Given the description of an element on the screen output the (x, y) to click on. 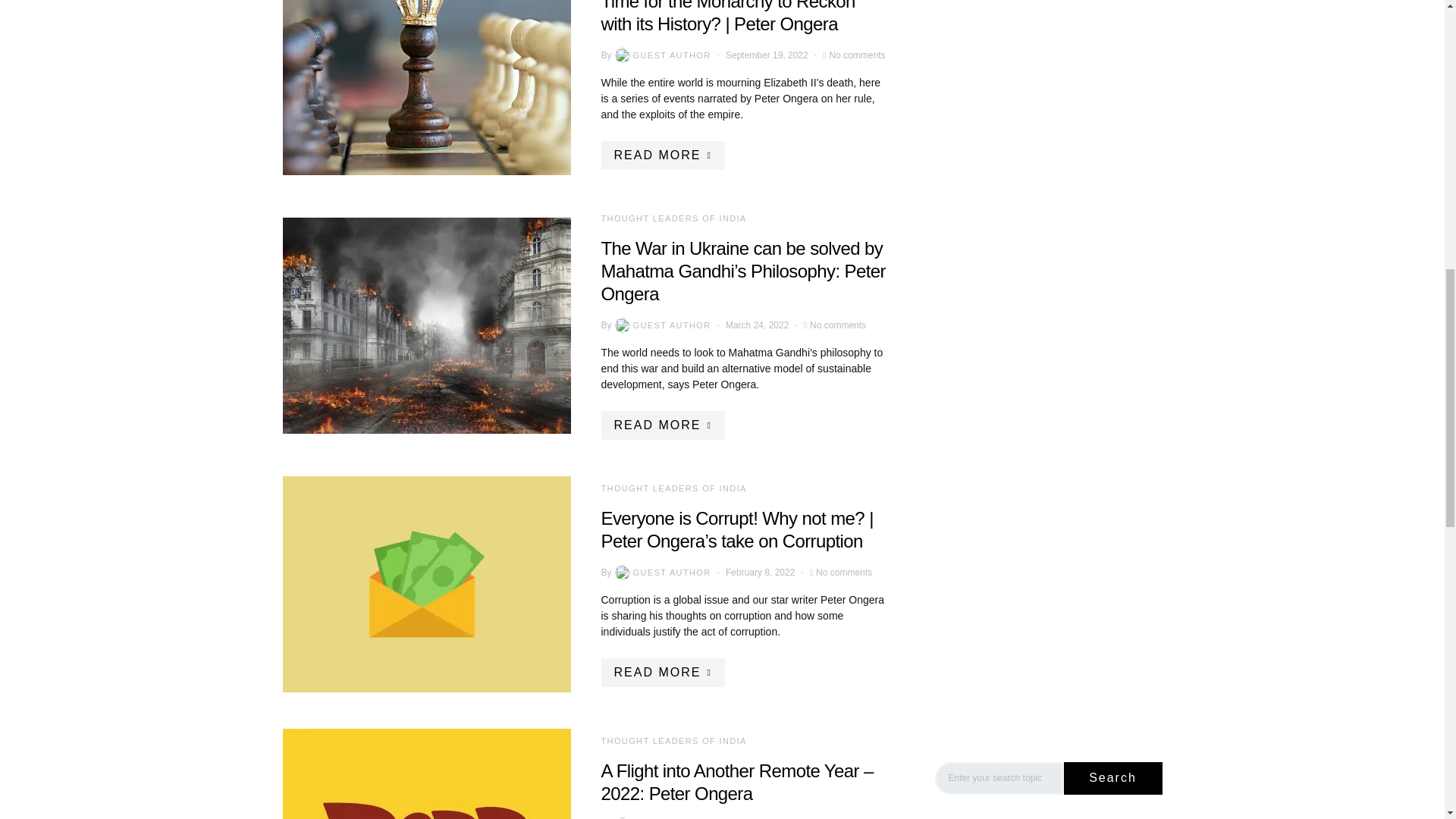
THOUGHT LEADERS OF INDIA (672, 217)
View all posts by Guest Author (661, 55)
GUEST AUTHOR (661, 324)
No comments (856, 55)
View all posts by Guest Author (661, 324)
READ MORE (661, 425)
READ MORE (661, 154)
No comments (837, 325)
View all posts by Guest Author (661, 818)
GUEST AUTHOR (661, 55)
View all posts by Guest Author (661, 572)
